Given the description of an element on the screen output the (x, y) to click on. 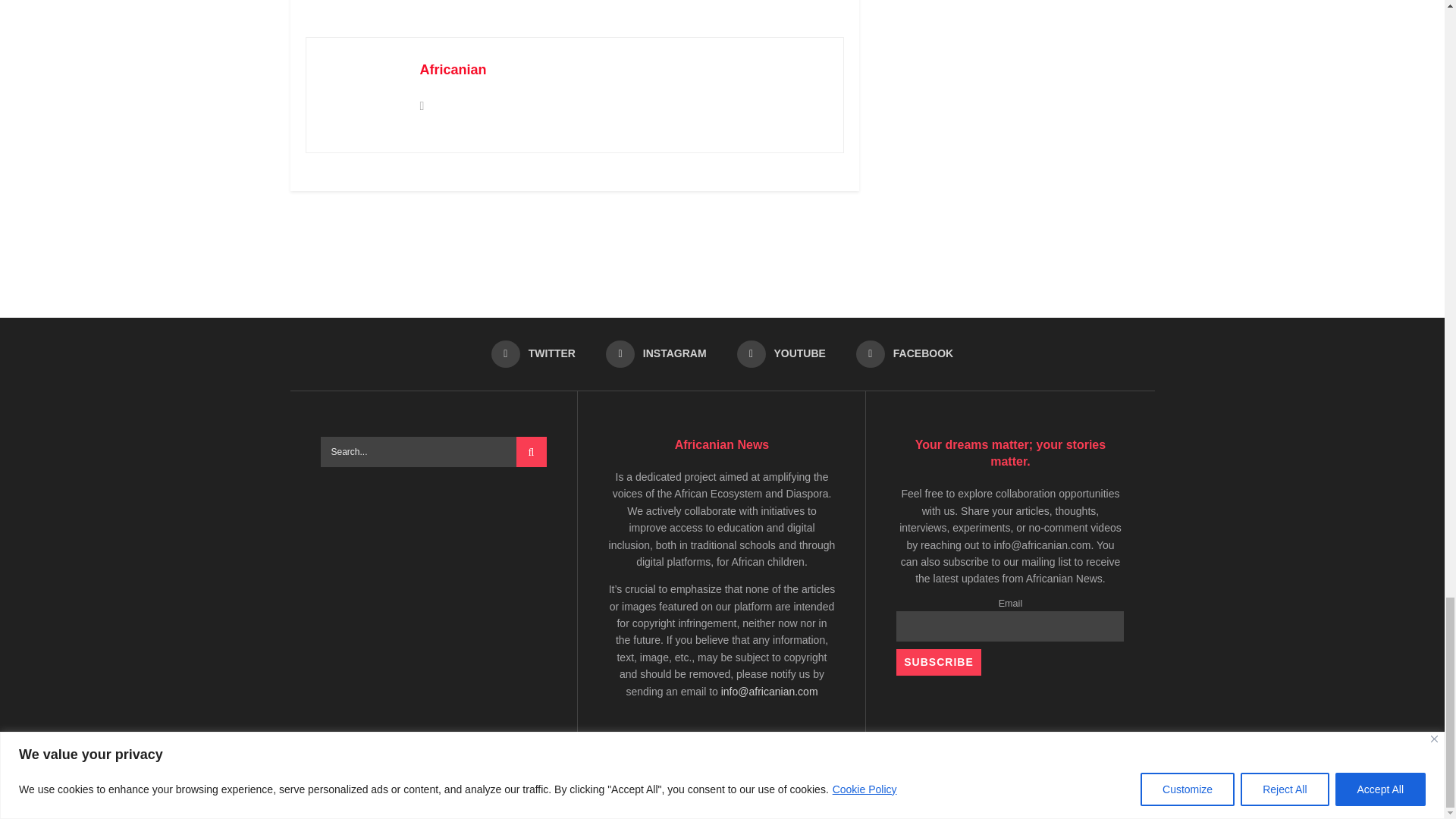
Advertisement (722, 247)
Subscribe (937, 662)
Advertisement (580, 4)
